Given the description of an element on the screen output the (x, y) to click on. 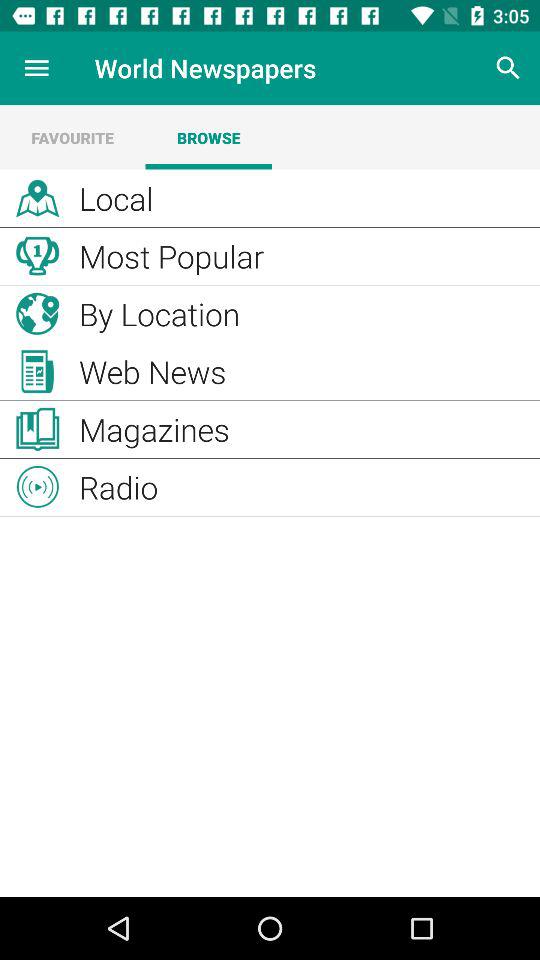
search the contents (508, 67)
